Given the description of an element on the screen output the (x, y) to click on. 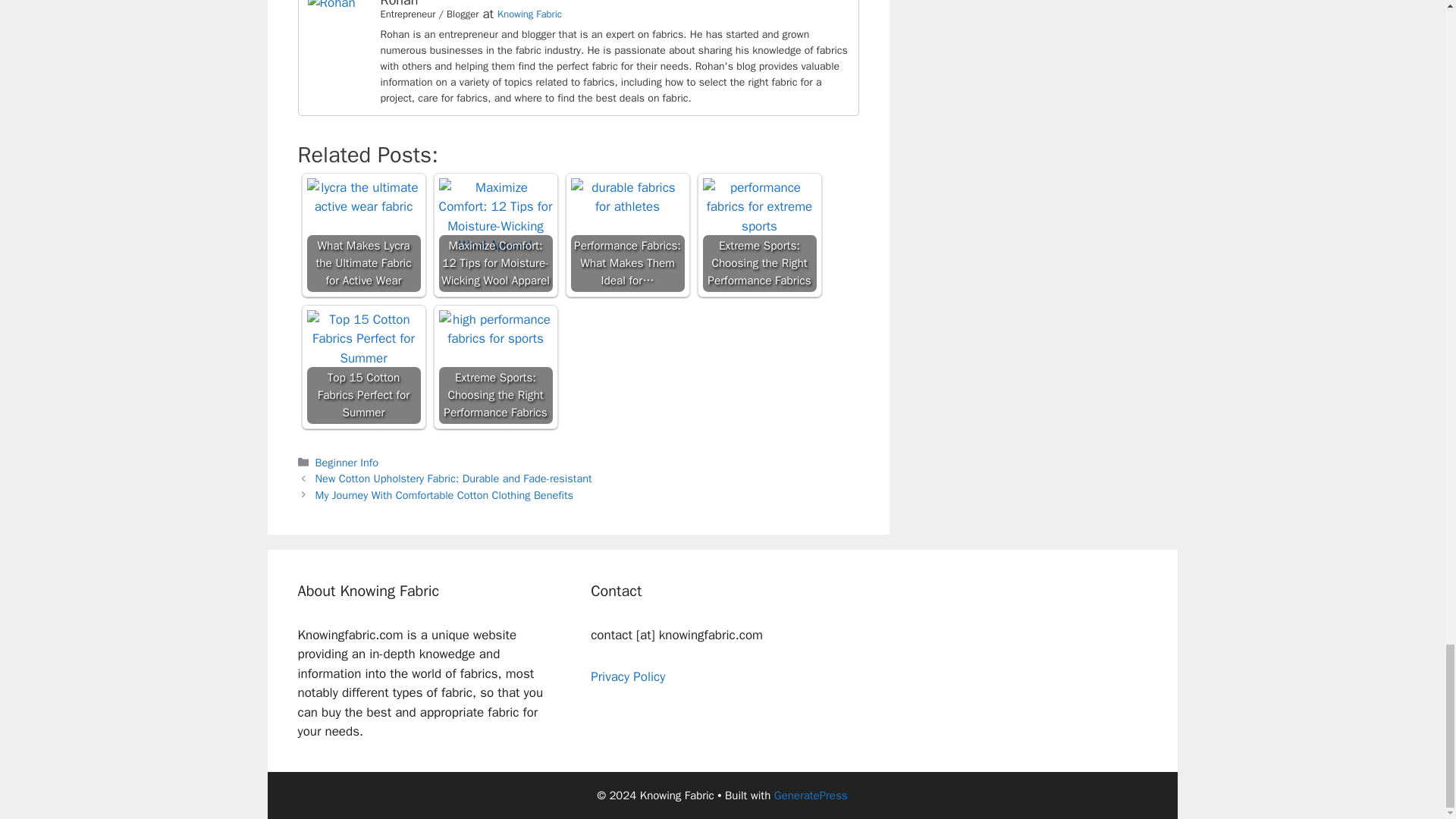
Rohan (399, 4)
My Journey With Comfortable Cotton Clothing Benefits (444, 495)
Top 15 Cotton Fabrics Perfect for Summer (362, 367)
Knowing Fabric (529, 13)
What Makes Lycra the Ultimate Fabric for Active Wear (362, 234)
Maximize Comfort: 12 Tips for Moisture-Wicking Wool Apparel (494, 234)
New Cotton Upholstery Fabric: Durable and Fade-resistant (453, 478)
Maximize Comfort: 12 Tips for Moisture-Wicking Wool Apparel (494, 216)
Rohan (331, 5)
Extreme Sports: Choosing the Right Performance Fabrics (494, 367)
Extreme Sports: Choosing the Right Performance Fabrics (758, 234)
Beginner Info (346, 462)
What Makes Lycra the Ultimate Fabric for Active Wear (362, 197)
